Given the description of an element on the screen output the (x, y) to click on. 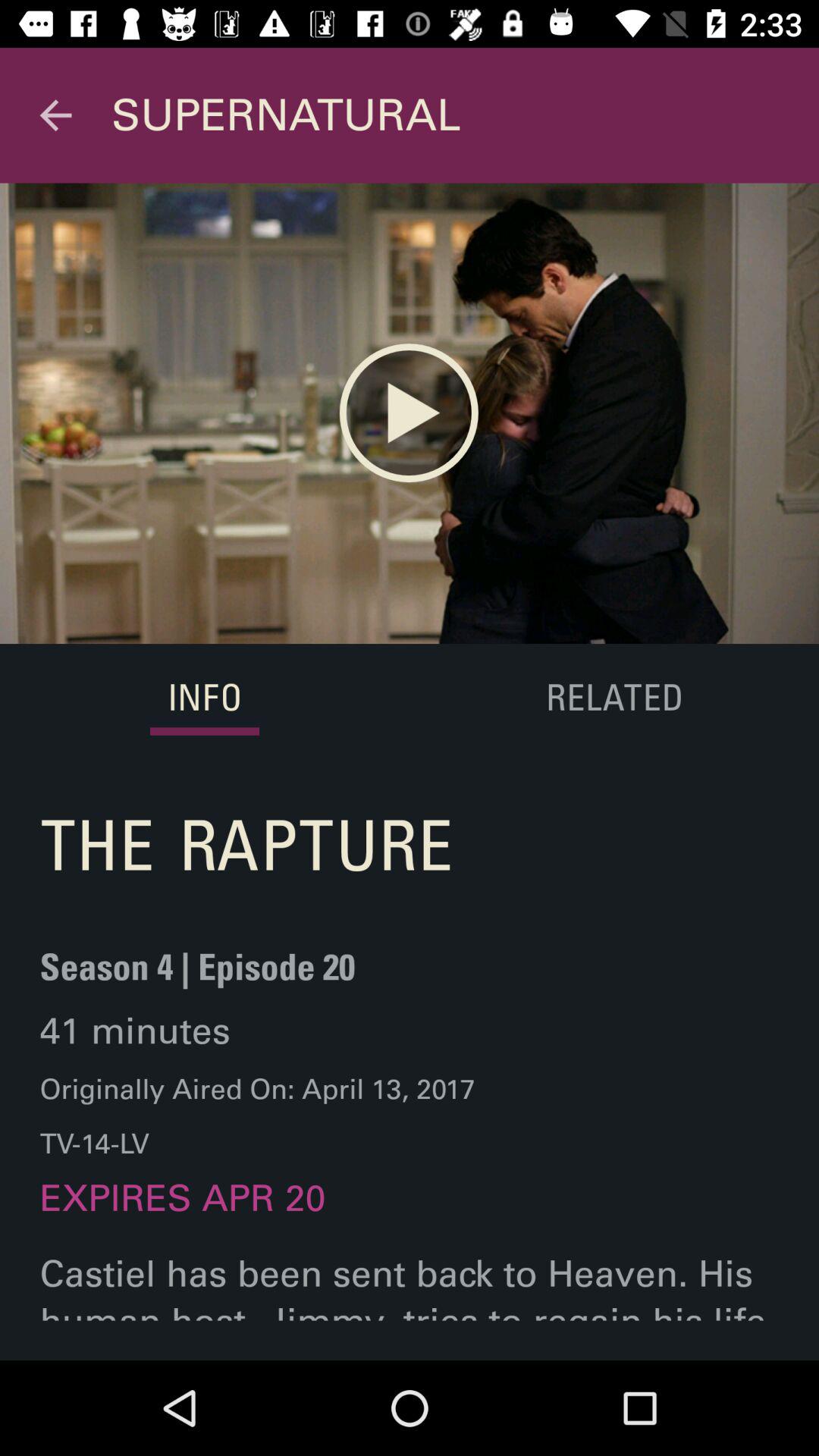
press icon at the top left corner (55, 115)
